Given the description of an element on the screen output the (x, y) to click on. 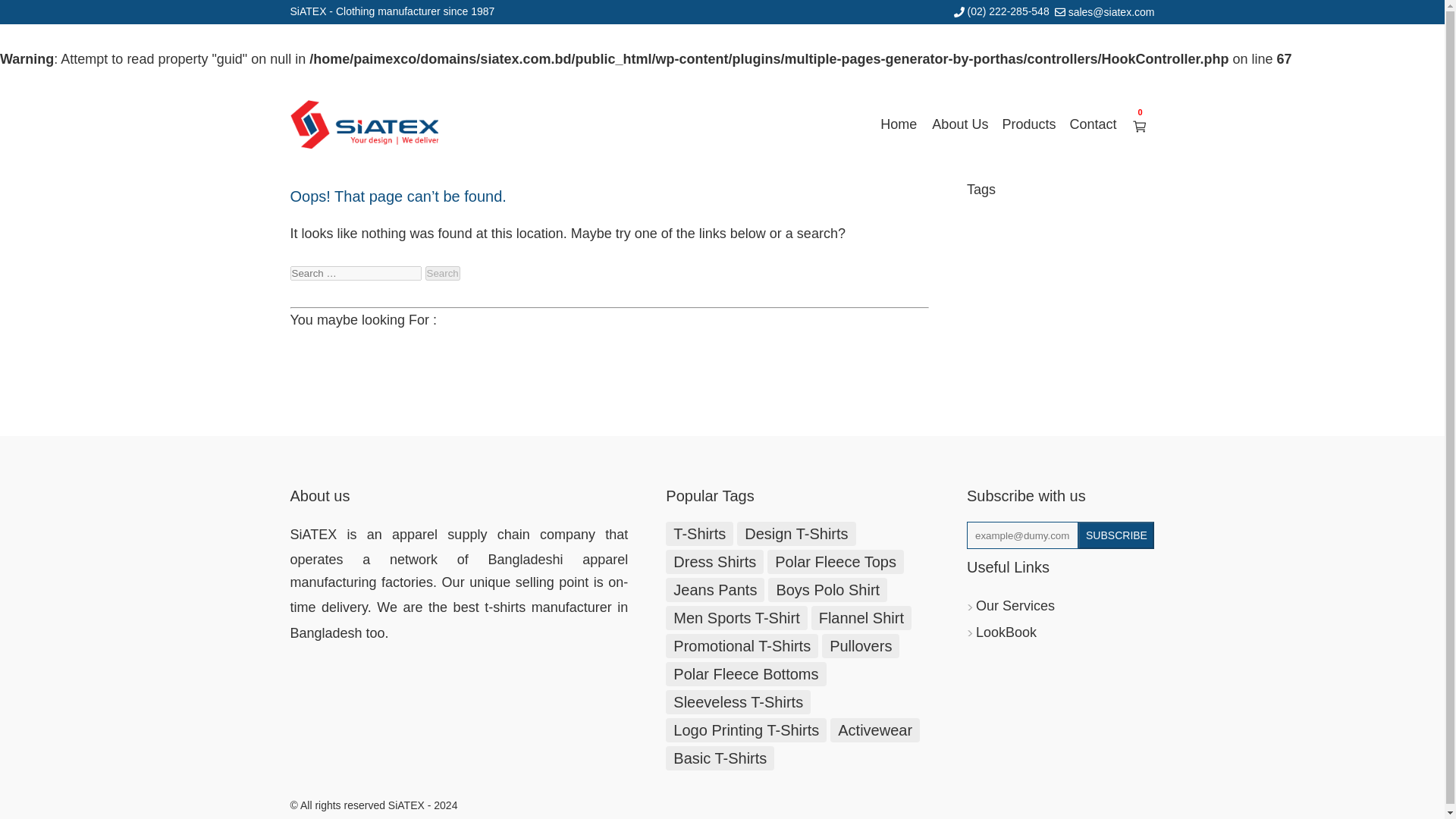
Cart (1139, 126)
Products (1028, 124)
Home (898, 123)
Search (442, 273)
Home (898, 123)
About Us (959, 123)
About Us (959, 123)
Search (442, 273)
Products (1028, 124)
